Given the description of an element on the screen output the (x, y) to click on. 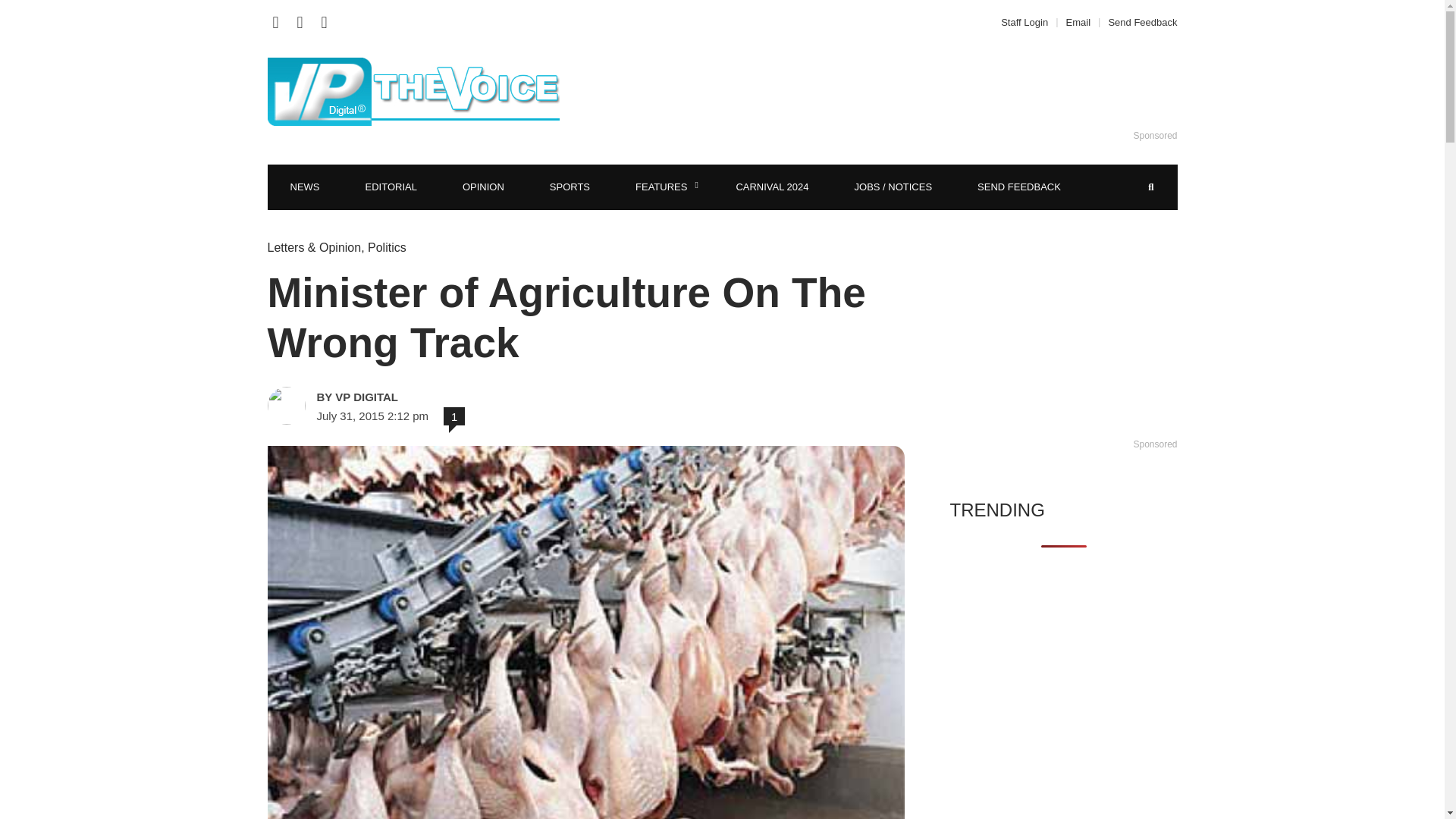
NEWS (304, 186)
Staff Login (1028, 21)
CARNIVAL 2024 (772, 186)
FEATURES (662, 186)
Send Feedback (1138, 21)
Politics (387, 246)
SPORTS (569, 186)
VP DIGITAL (422, 396)
Email (1078, 21)
EDITORIAL (390, 186)
